Given the description of an element on the screen output the (x, y) to click on. 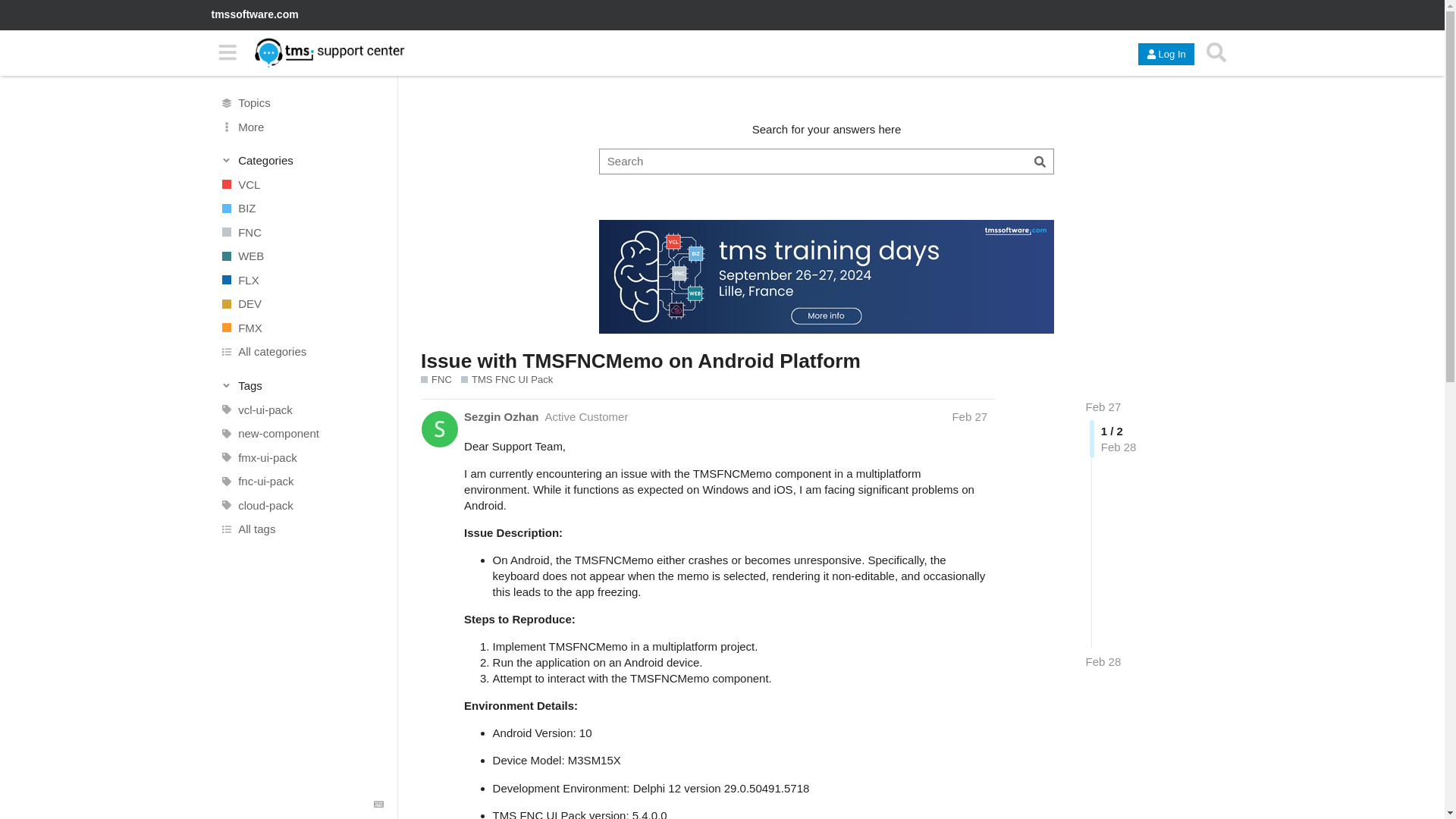
Search (1215, 52)
All tags (301, 528)
FMX (301, 328)
vcl-ui-pack (301, 409)
Issue with TMSFNCMemo on Android Platform (640, 360)
WEB (301, 256)
fmx-ui-pack (301, 457)
Feb 28 (1103, 661)
All topics (301, 102)
DEV (301, 303)
